Given the description of an element on the screen output the (x, y) to click on. 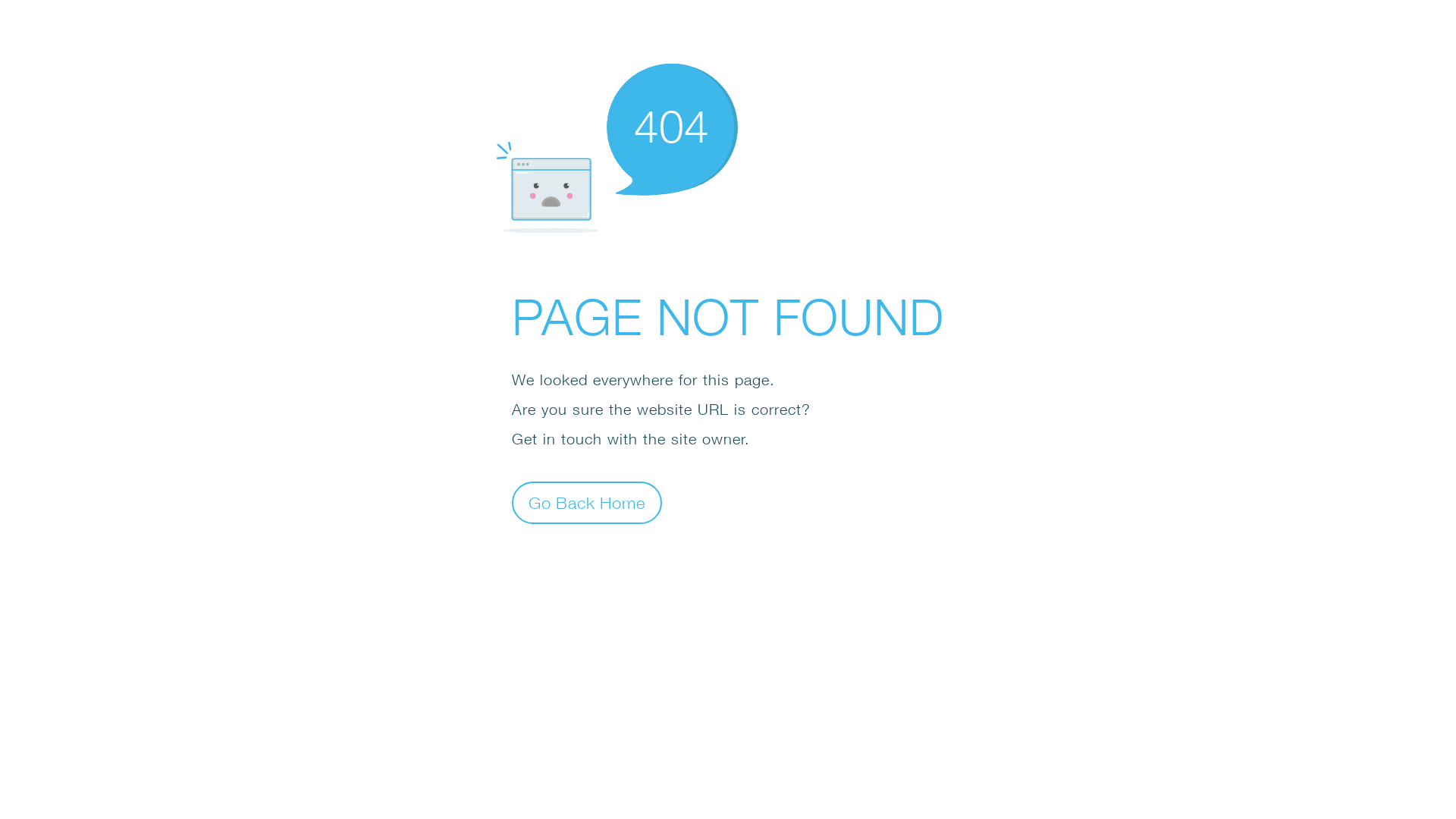
Go Back Home Element type: text (586, 502)
